Given the description of an element on the screen output the (x, y) to click on. 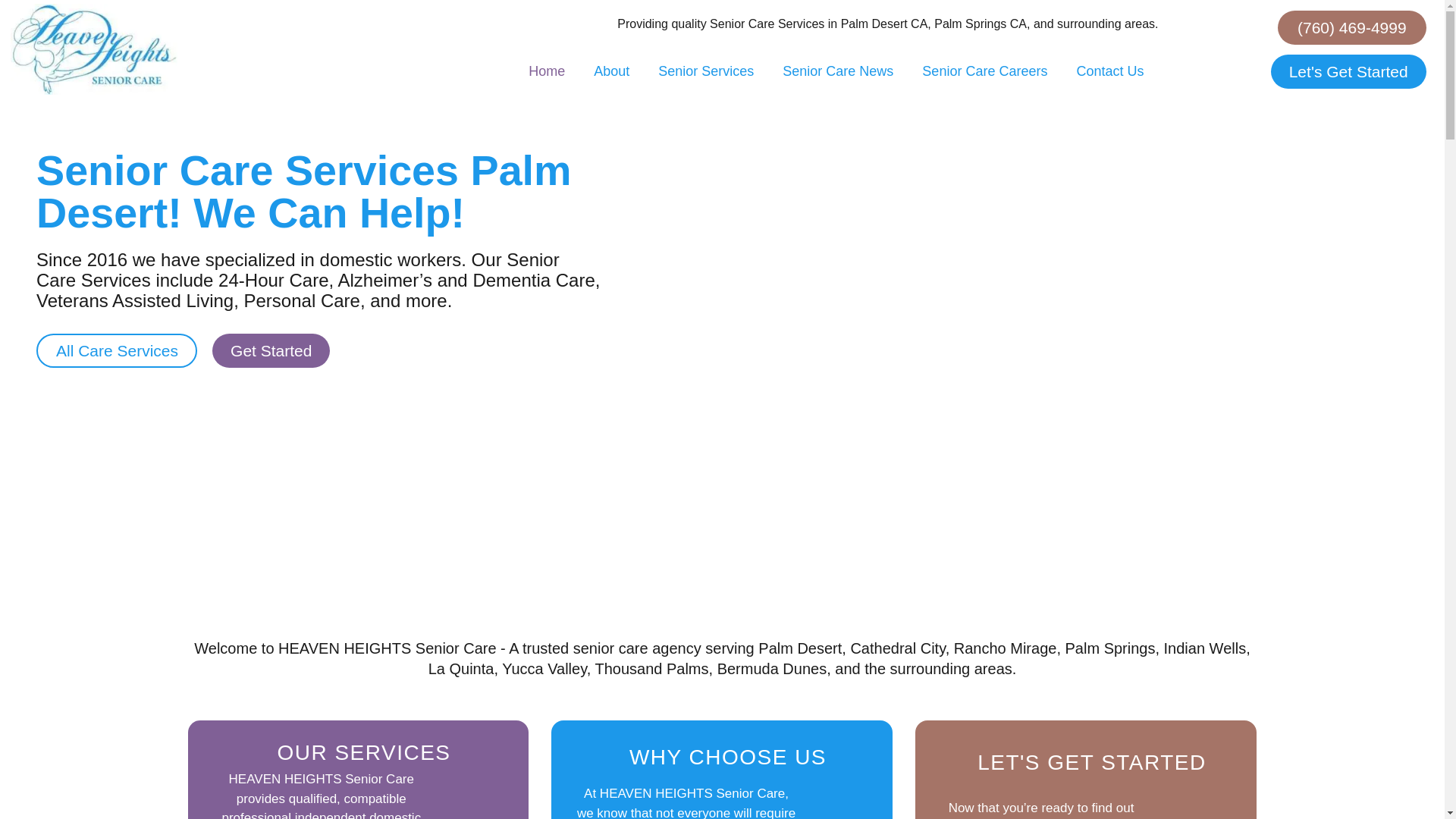
Senior Care Careers (984, 70)
Senior Care News (837, 70)
Home (546, 70)
All Care Services (116, 350)
Contact Us (1109, 70)
Get Started (271, 350)
Let's Get Started (1348, 71)
Senior Services (705, 70)
About (611, 70)
